Given the description of an element on the screen output the (x, y) to click on. 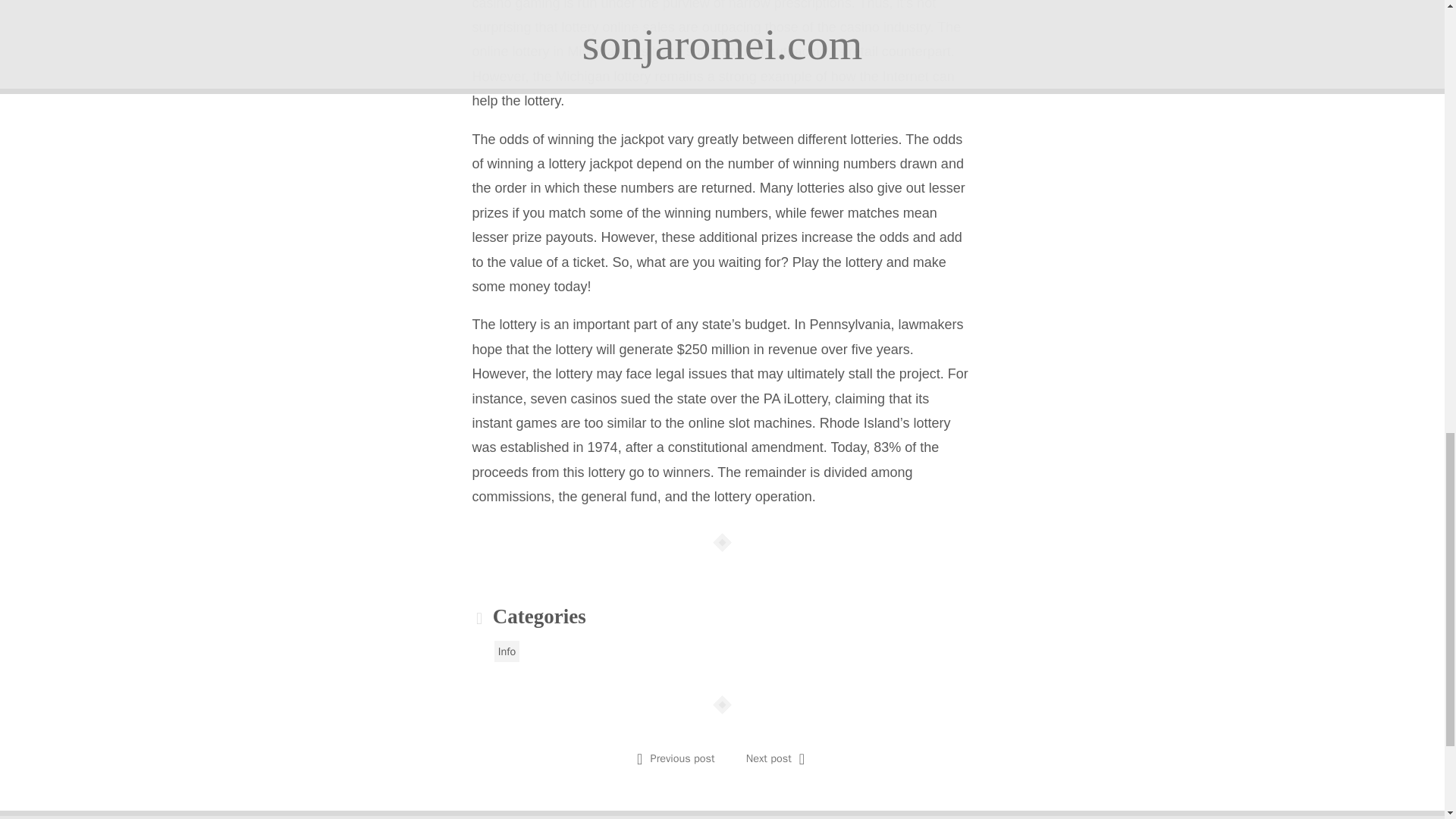
Previous post (682, 757)
Info (507, 650)
Next post (768, 757)
